Given the description of an element on the screen output the (x, y) to click on. 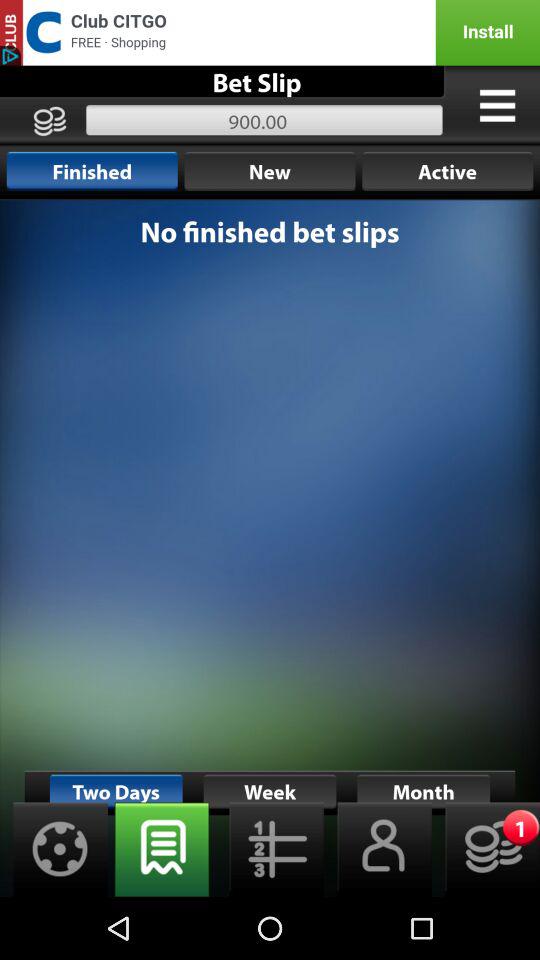
open bet slips (161, 849)
